Given the description of an element on the screen output the (x, y) to click on. 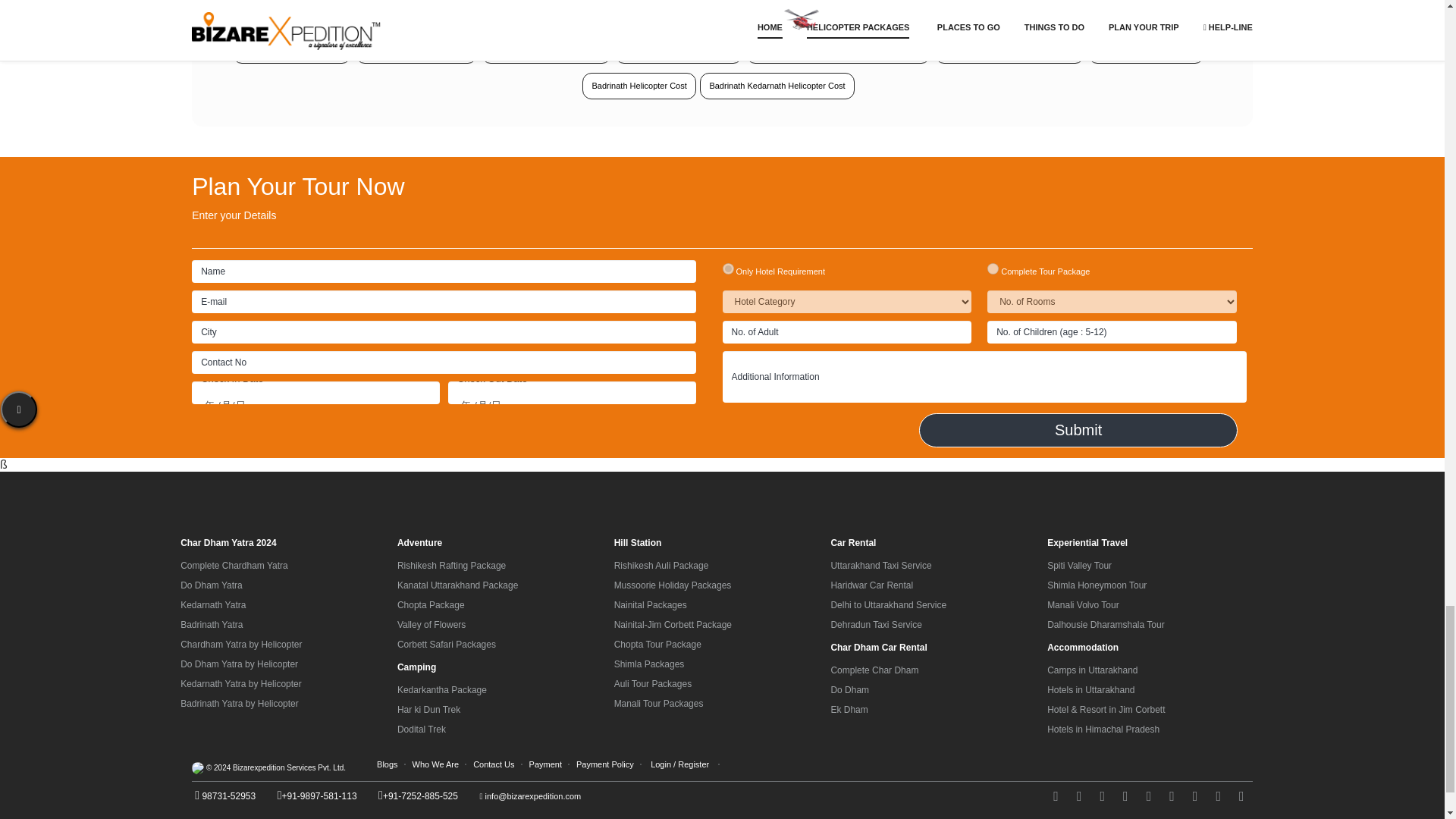
Complete Tour Package (992, 268)
Only Hotel Requirement (727, 268)
